Given the description of an element on the screen output the (x, y) to click on. 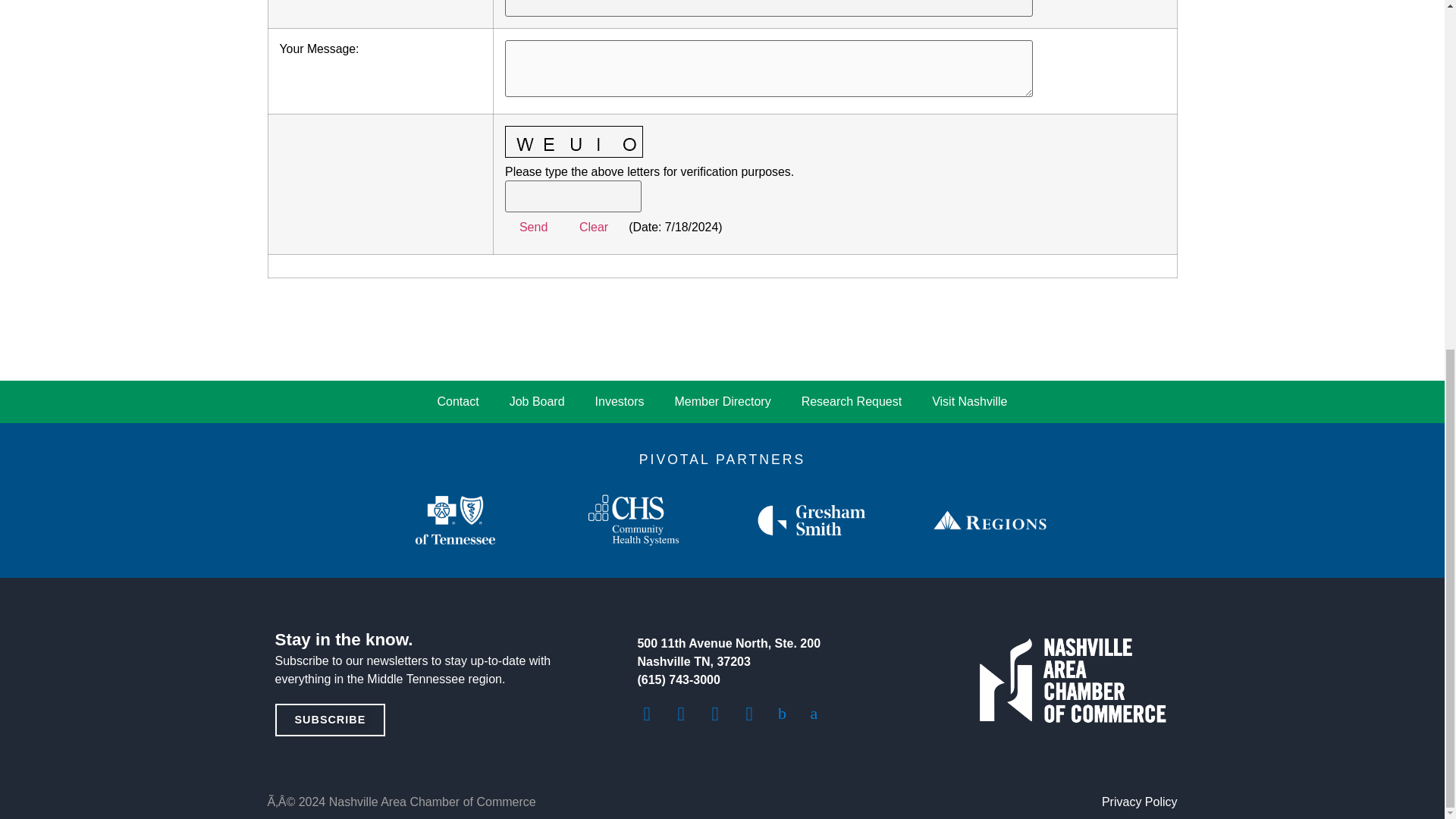
Send (533, 221)
Clear (594, 227)
